Given the description of an element on the screen output the (x, y) to click on. 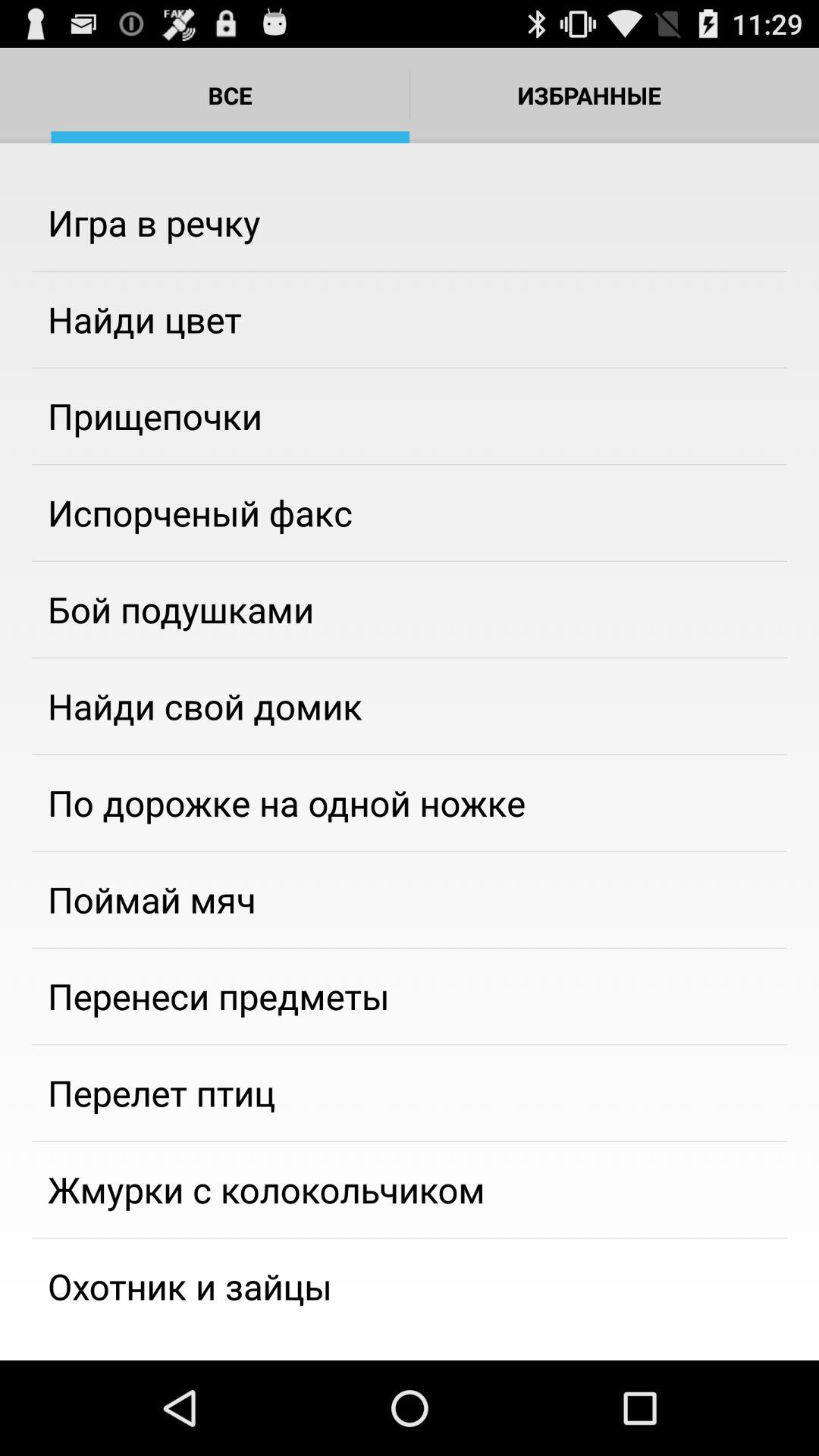
click on bce (230, 95)
